Given the description of an element on the screen output the (x, y) to click on. 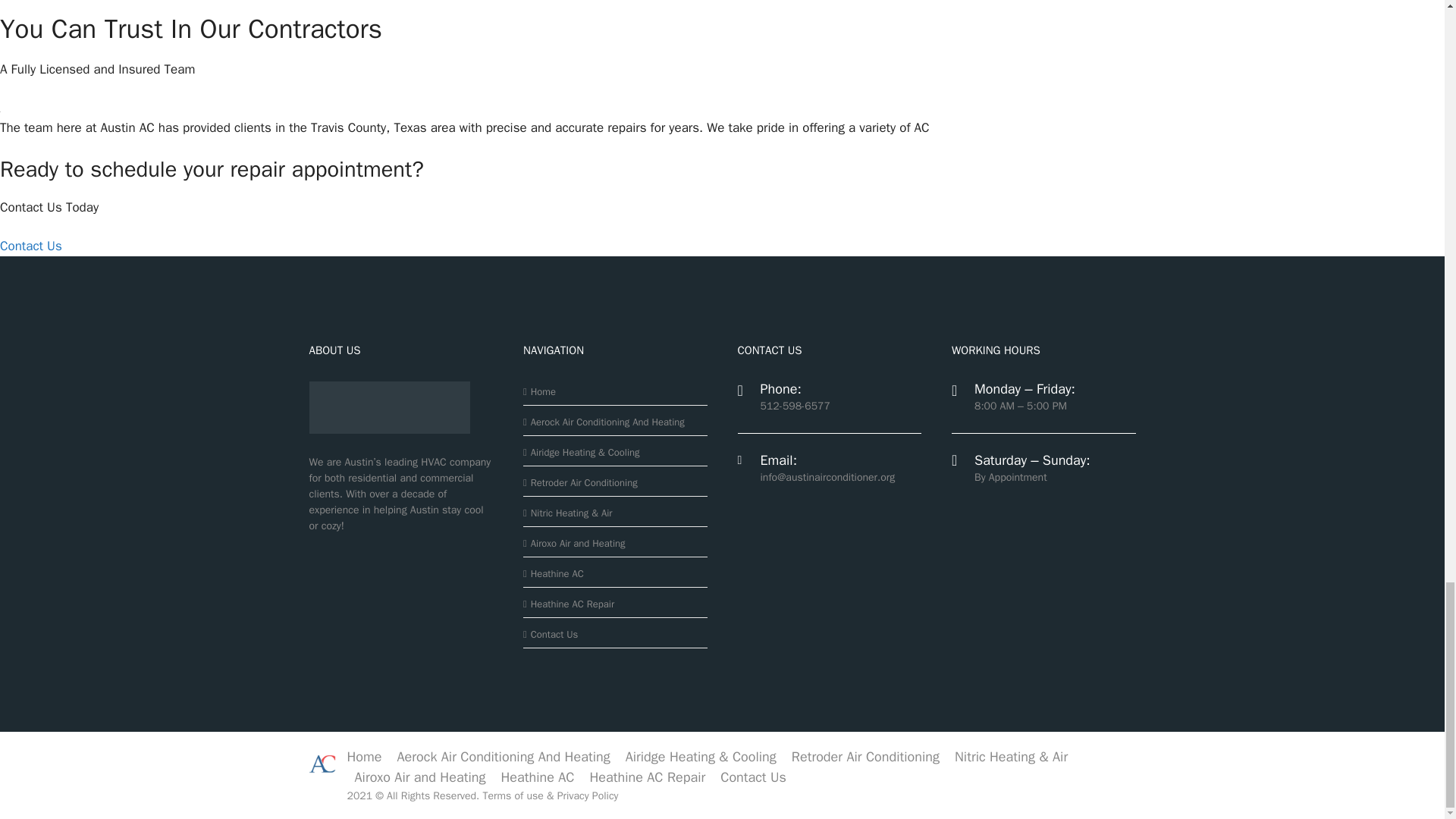
Heathine AC (552, 573)
Home (539, 391)
Aerock Air Conditioning And Heating (603, 421)
Airoxo Air and Heating (574, 543)
Retroder Air Conditioning (579, 481)
Contact Us (31, 245)
